Given the description of an element on the screen output the (x, y) to click on. 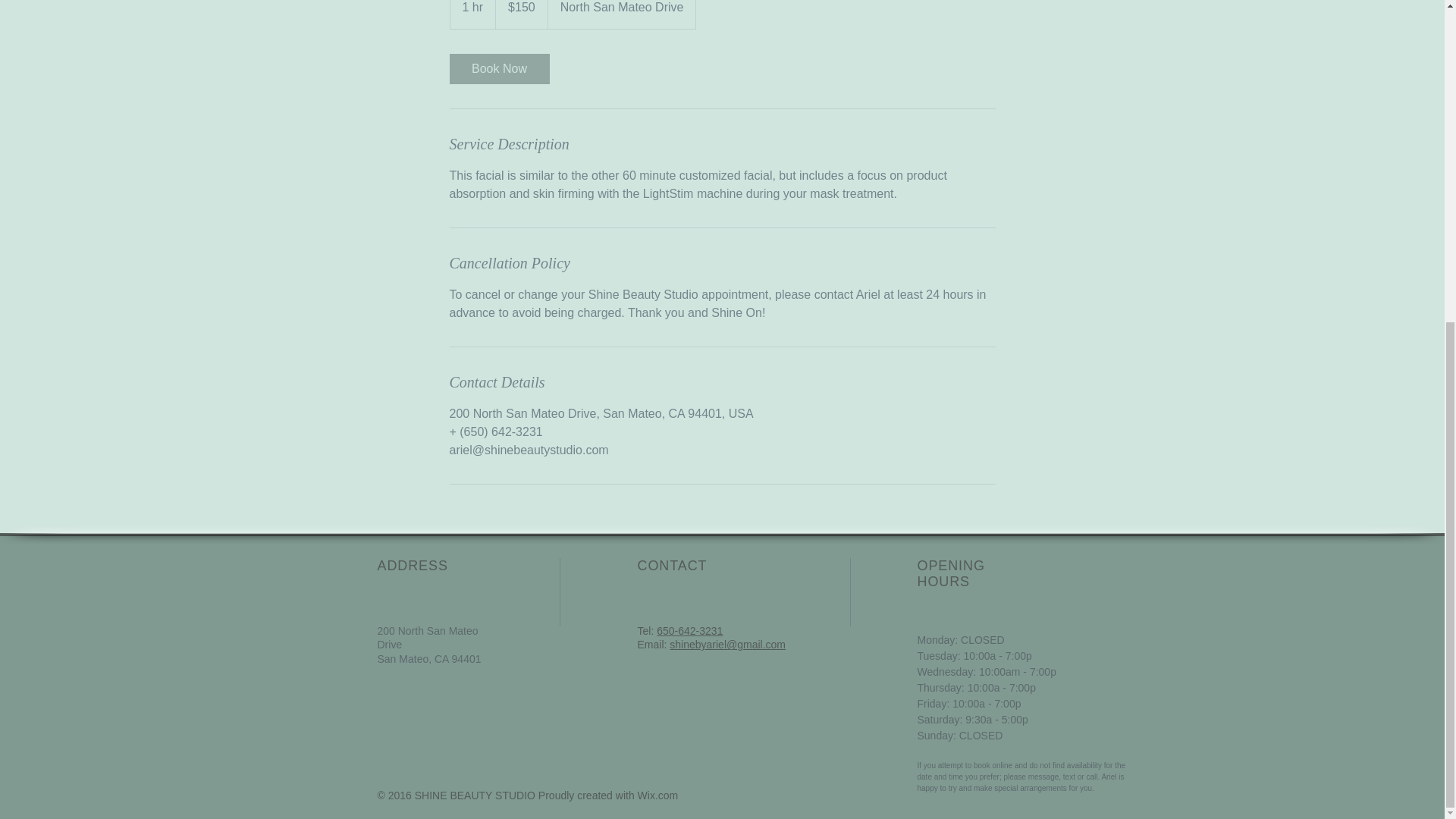
Book Now (498, 69)
650-642-3231 (689, 630)
Wix.com (657, 795)
